Given the description of an element on the screen output the (x, y) to click on. 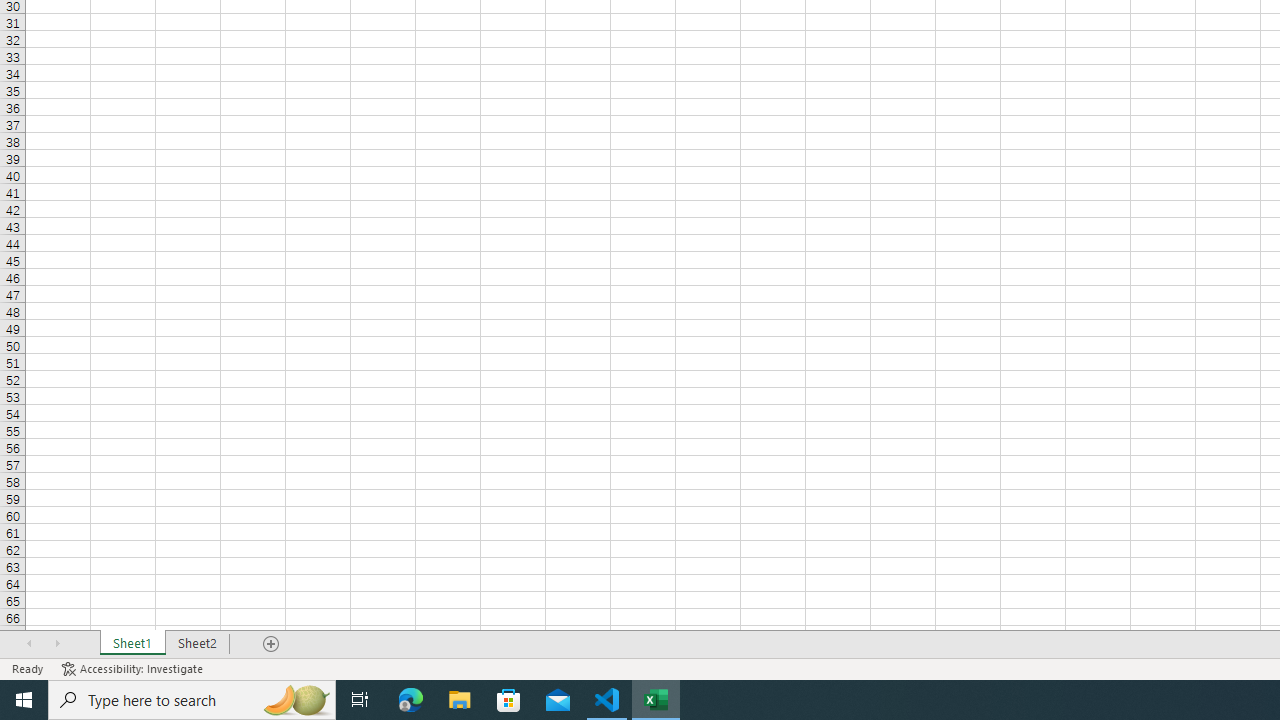
Accessibility Checker Accessibility: Investigate (134, 668)
Sheet2 (197, 644)
